Given the description of an element on the screen output the (x, y) to click on. 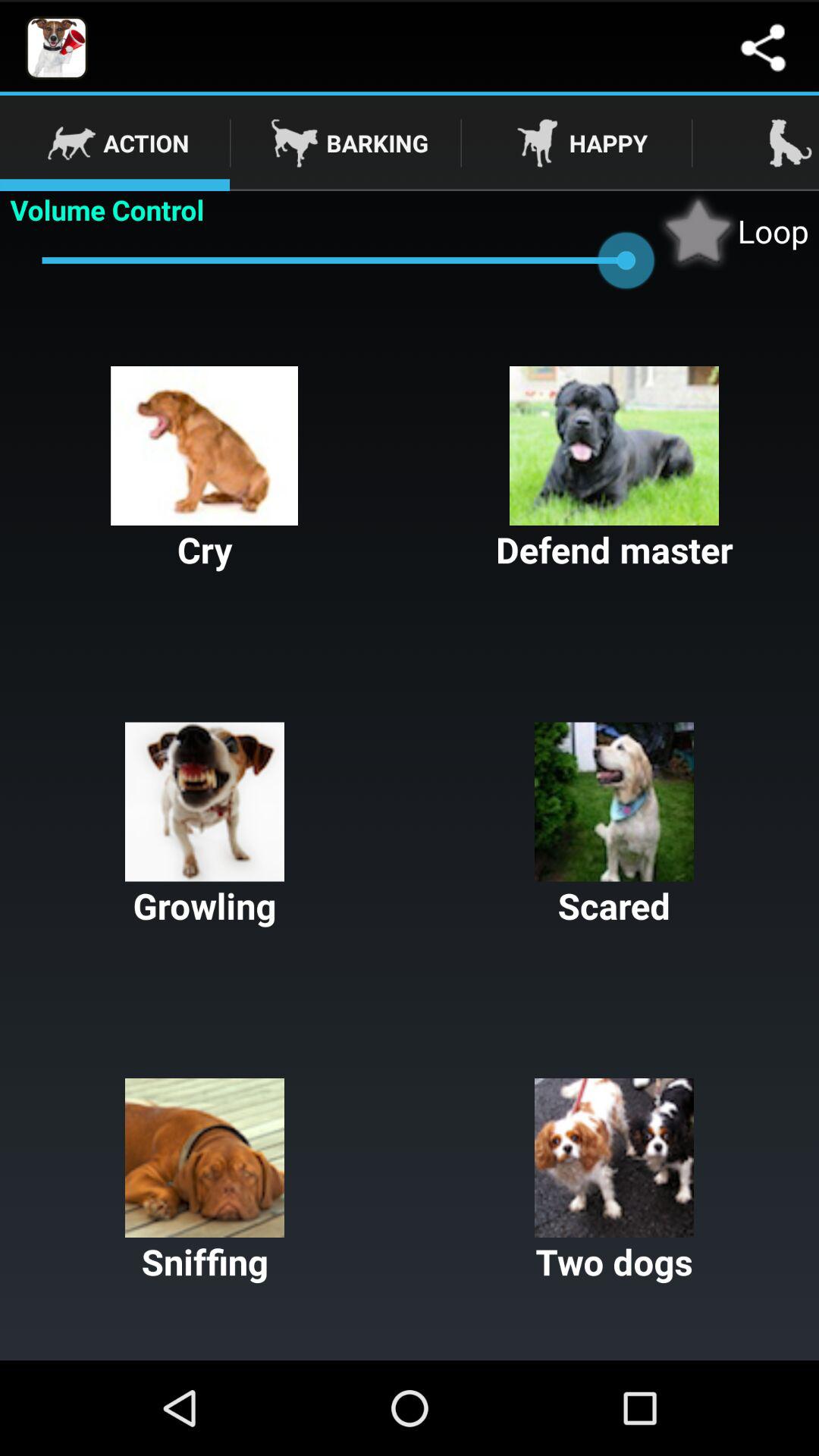
turn on the item above the defend master item (733, 230)
